Given the description of an element on the screen output the (x, y) to click on. 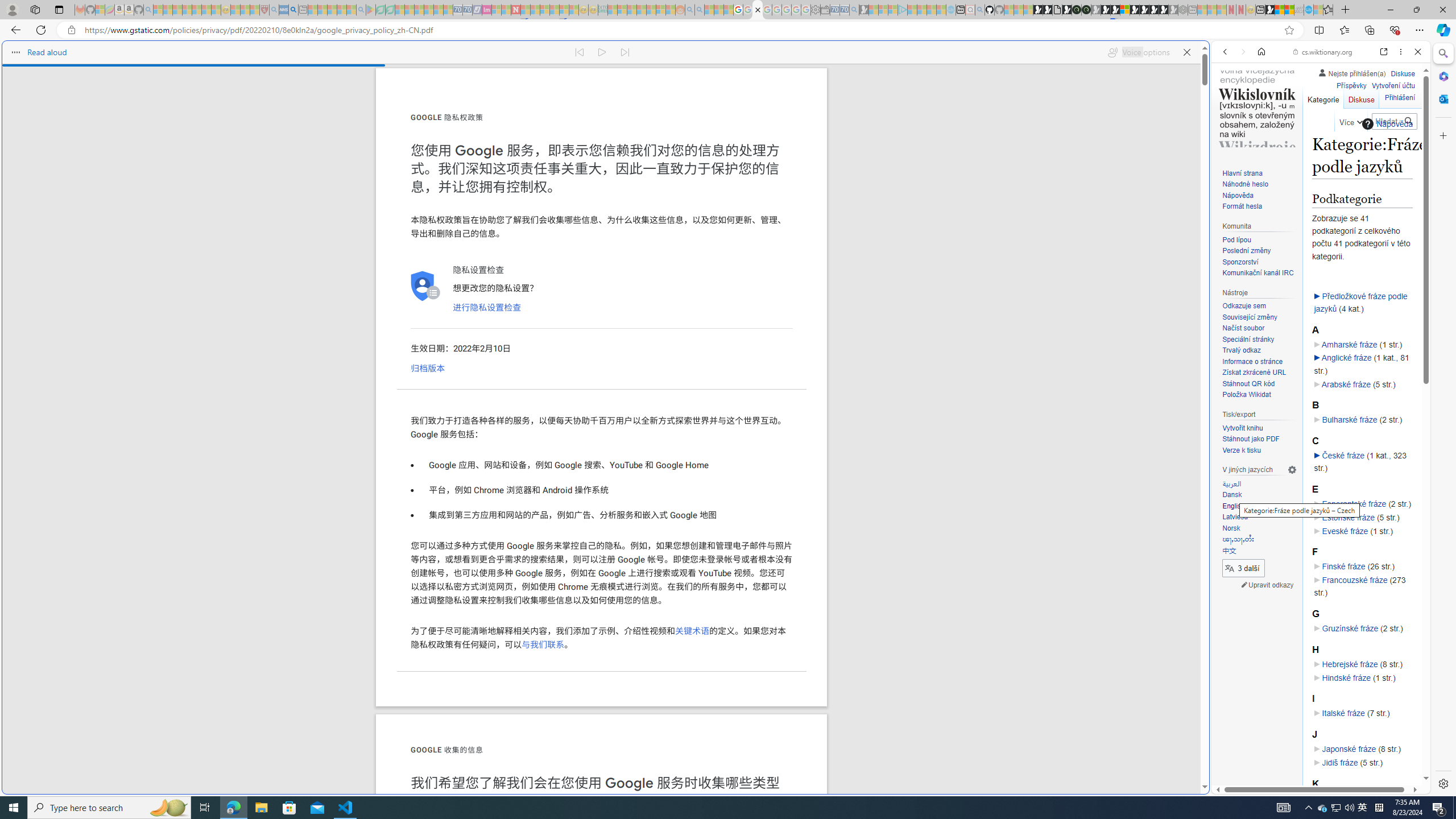
Home | Sky Blue Bikes - Sky Blue Bikes - Sleeping (950, 9)
Class: b_serphb (1404, 130)
New Report Confirms 2023 Was Record Hot | Watch - Sleeping (196, 9)
Search or enter web address (922, 108)
Diskuse (1360, 96)
